Given the description of an element on the screen output the (x, y) to click on. 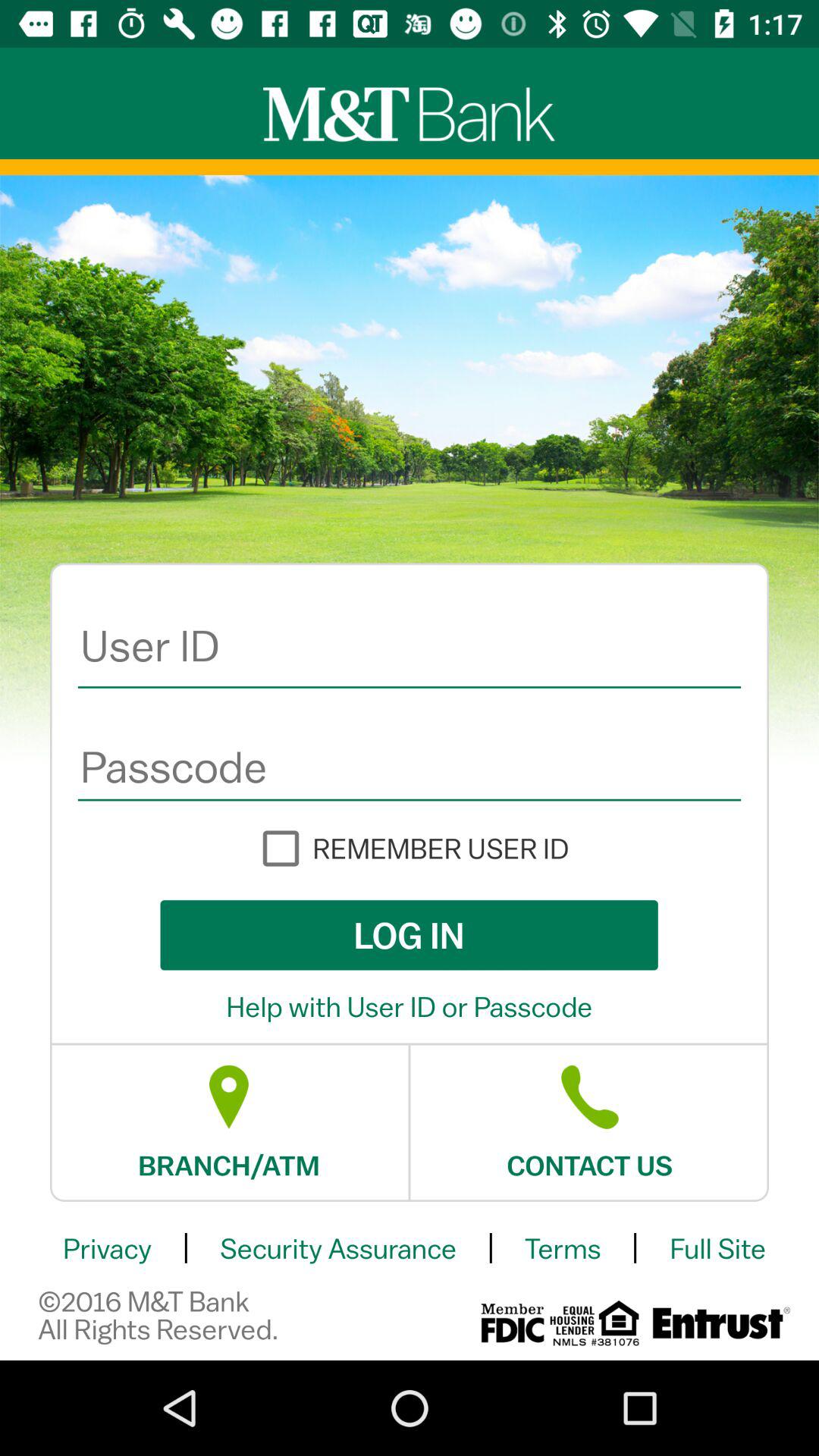
click the log in icon (409, 935)
